Given the description of an element on the screen output the (x, y) to click on. 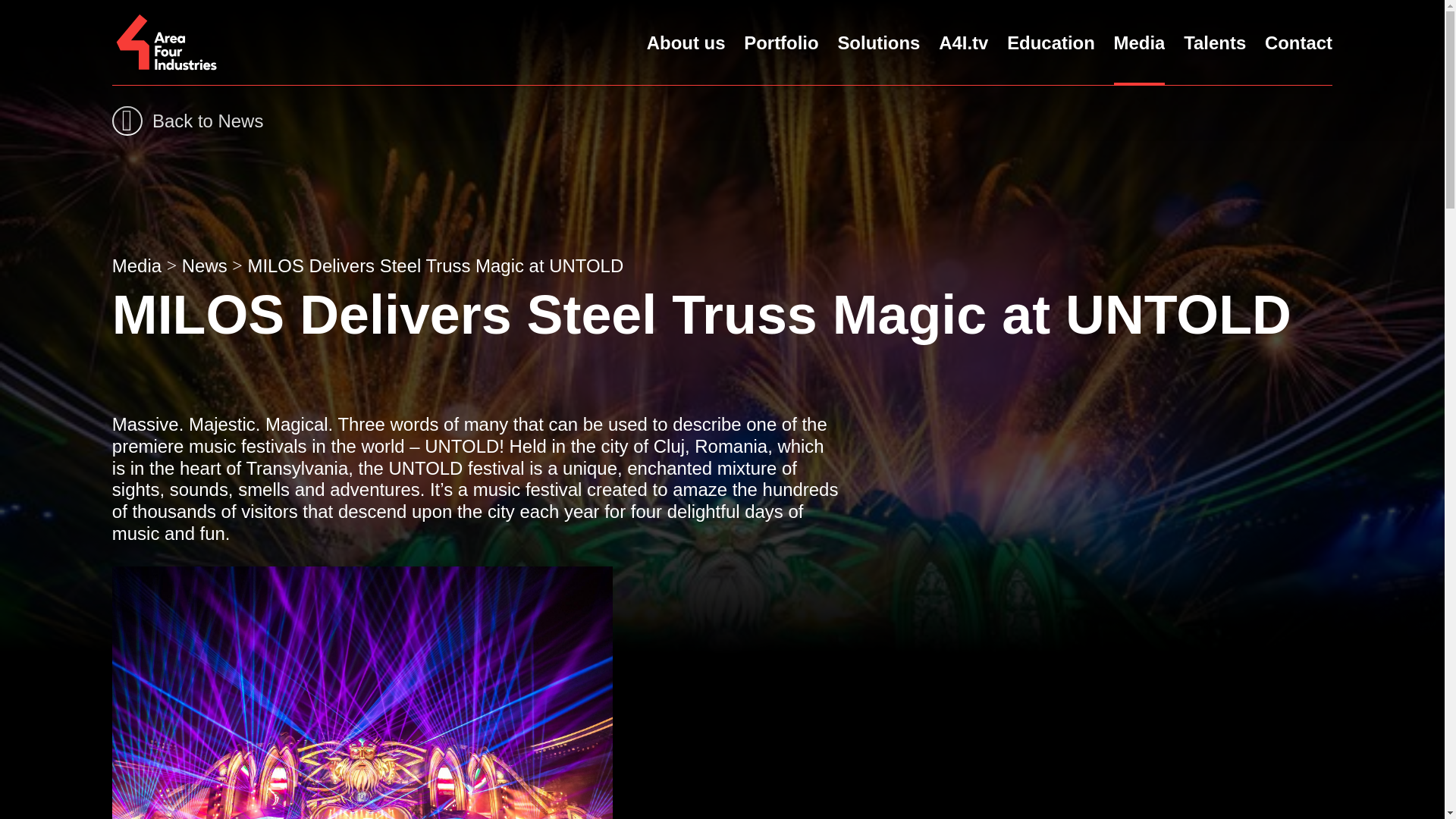
Solutions (878, 42)
Education (1050, 42)
About us (685, 42)
